Given the description of an element on the screen output the (x, y) to click on. 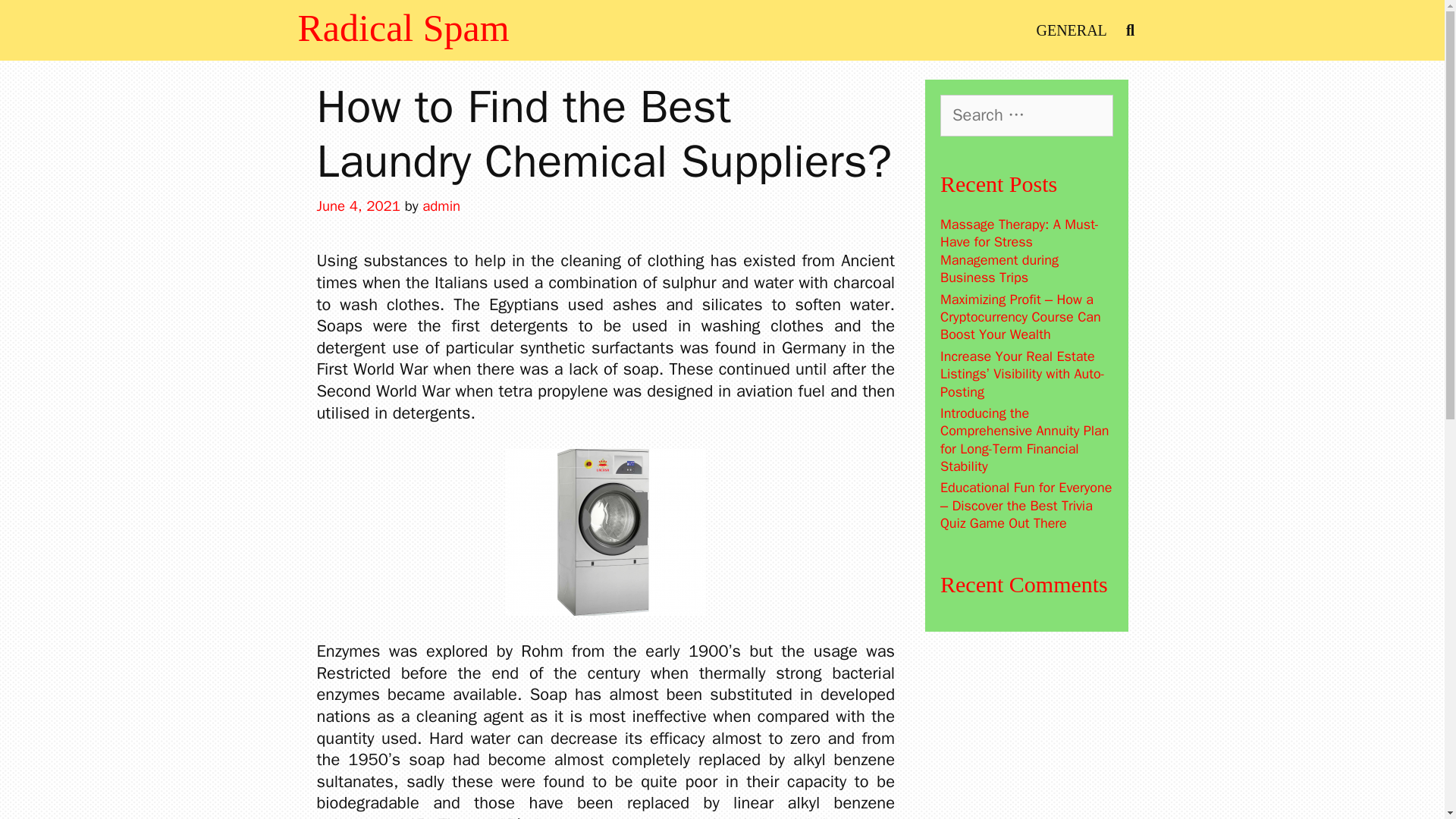
View all posts by admin (441, 206)
admin (441, 206)
GENERAL (1071, 30)
Search for: (1026, 115)
Search (37, 20)
10:34 am (359, 206)
Radical Spam (402, 27)
June 4, 2021 (359, 206)
